Given the description of an element on the screen output the (x, y) to click on. 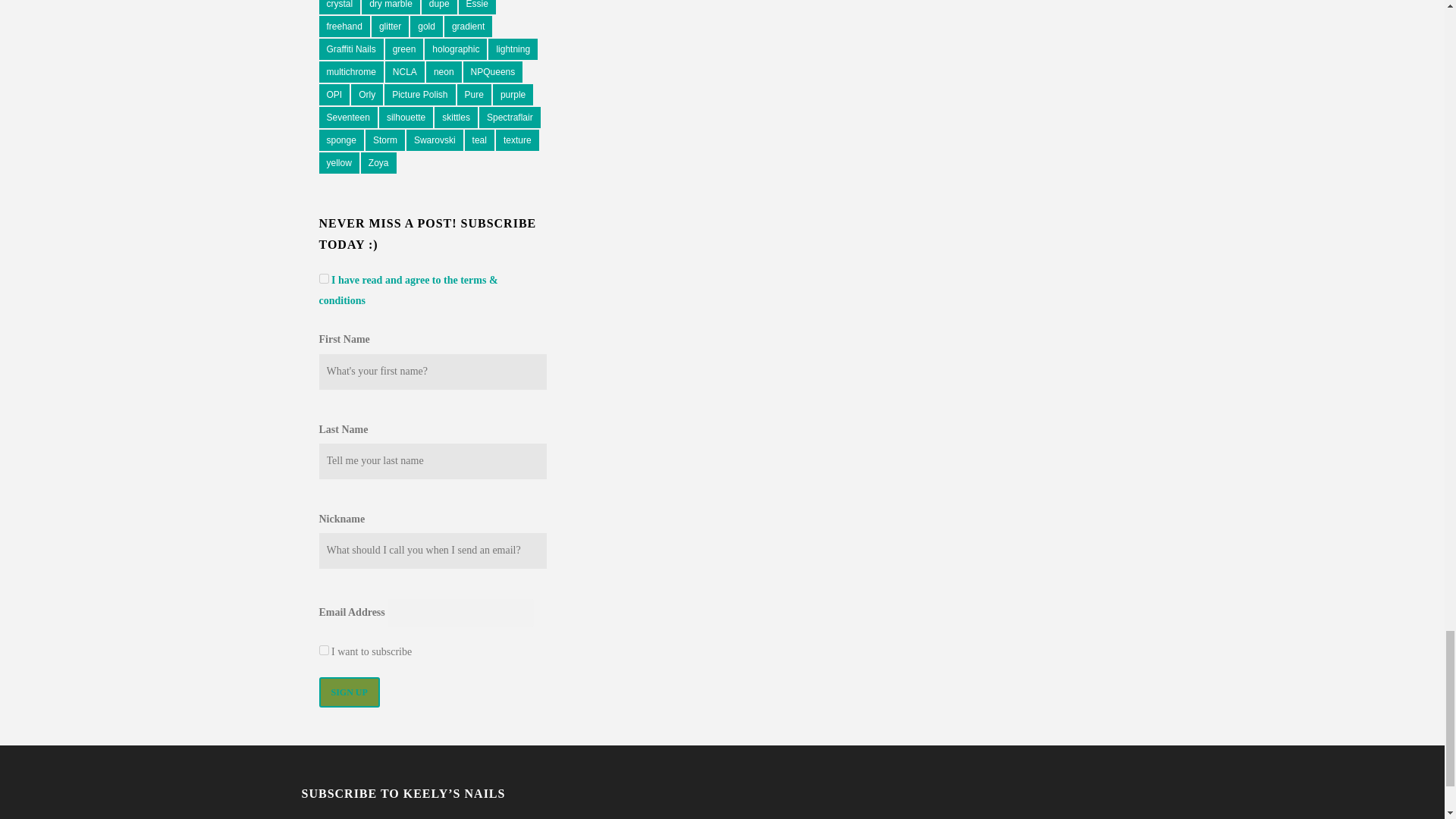
Sign up (348, 692)
1 (323, 278)
status (323, 650)
